Given the description of an element on the screen output the (x, y) to click on. 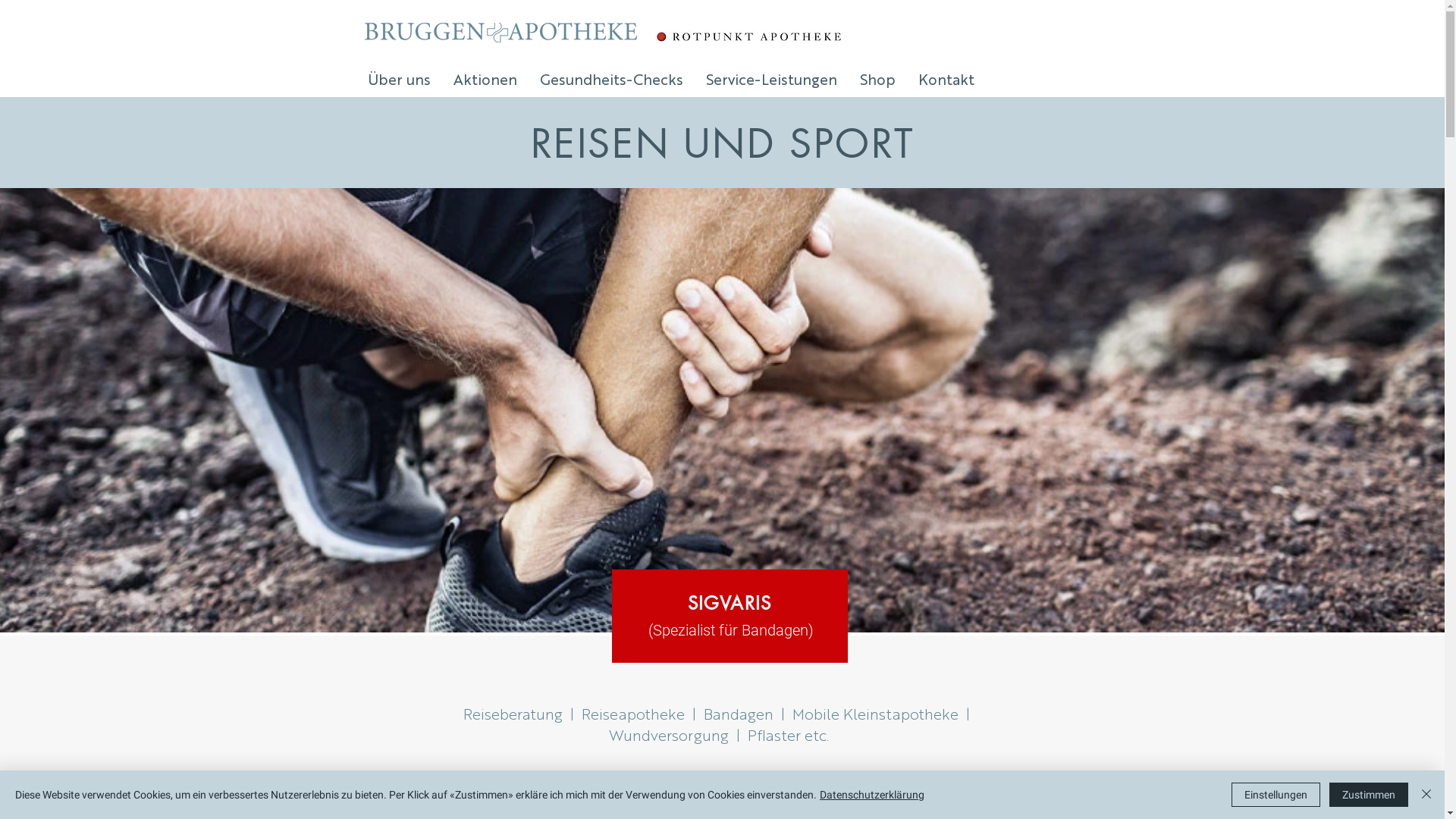
Wundversorgung Element type: text (668, 734)
Reiseapotheke Element type: text (632, 712)
Kontakt Element type: text (945, 78)
Aktionen Element type: text (484, 78)
Mobile Kleinstapotheke  |  Element type: text (880, 712)
Reiseberatung Element type: text (512, 712)
Pflaster etc. Element type: text (787, 734)
Zustimmen Element type: text (1368, 794)
Einstellungen Element type: text (1275, 794)
Service-Leistungen Element type: text (771, 78)
  |   Element type: text (737, 734)
Gesundheits-Checks Element type: text (610, 78)
Shop Element type: text (876, 78)
Bandagen Element type: text (738, 712)
